Given the description of an element on the screen output the (x, y) to click on. 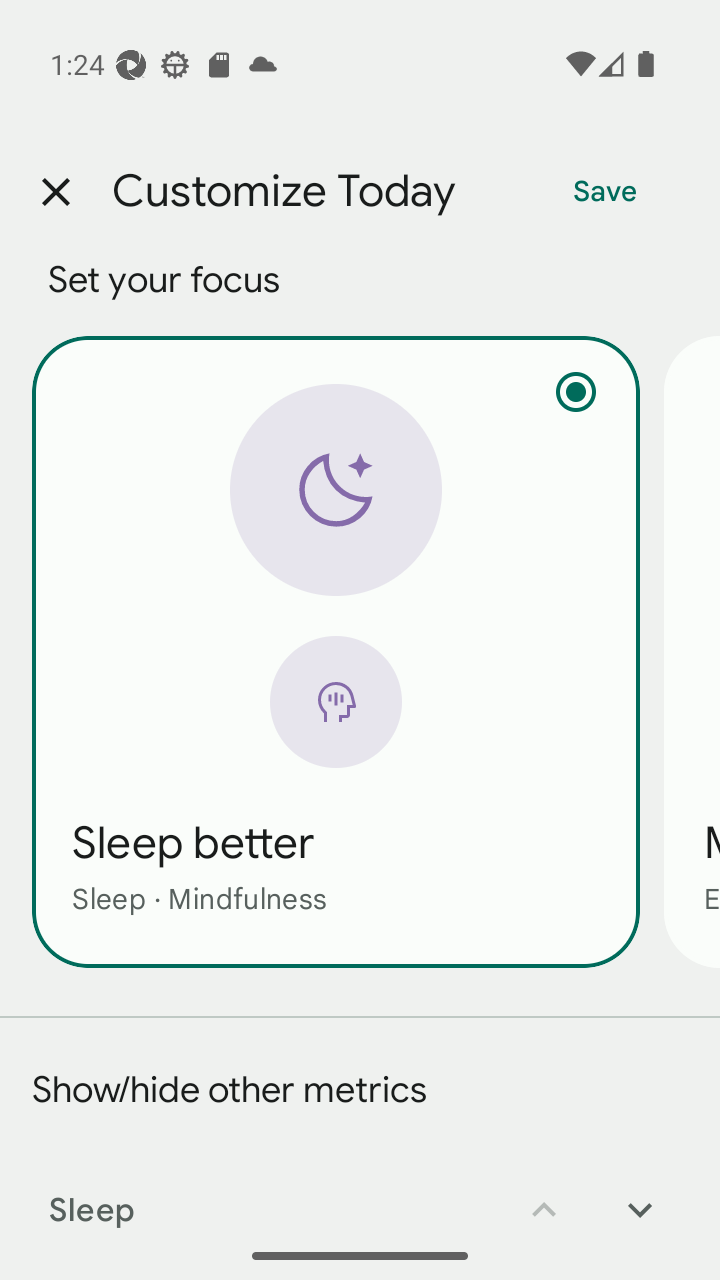
Close (55, 191)
Save (605, 191)
Sleep better Sleep · Mindfulness (335, 651)
Move Sleep up (543, 1196)
Move Sleep down (639, 1196)
